Given the description of an element on the screen output the (x, y) to click on. 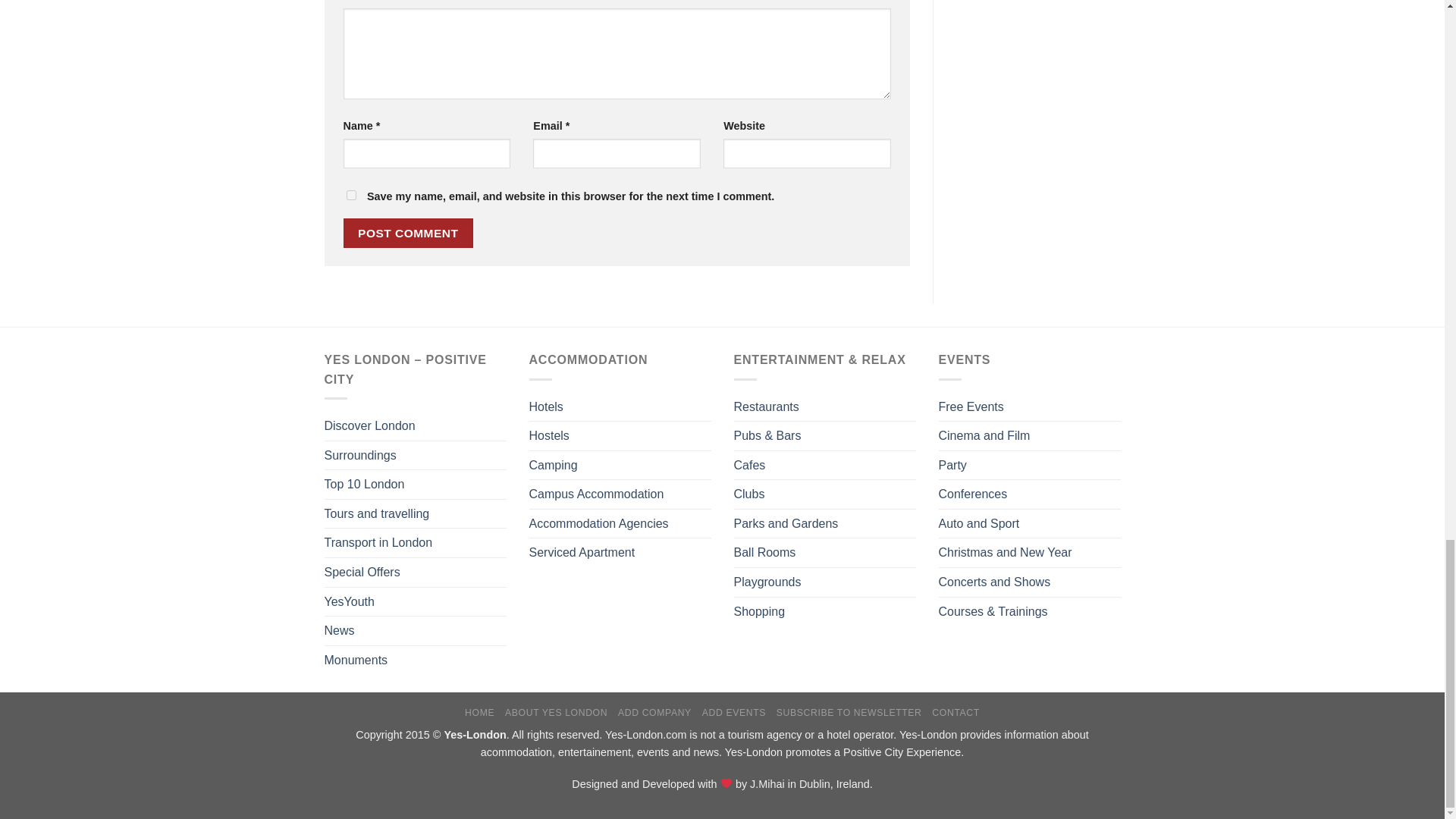
Post Comment (407, 233)
yes (350, 194)
